Given the description of an element on the screen output the (x, y) to click on. 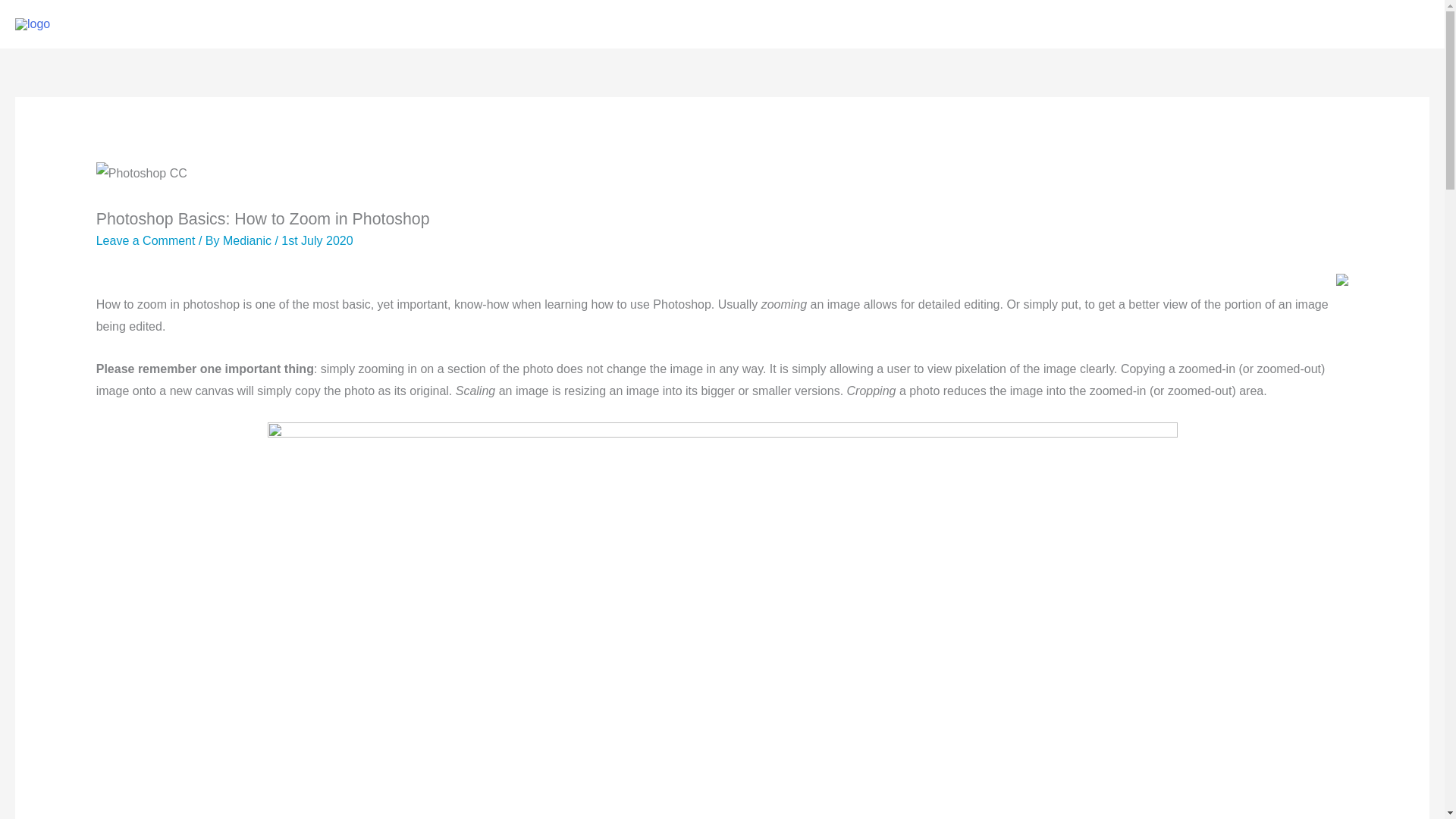
Leave a Comment (145, 240)
View all posts by Medianic (248, 240)
Home (1010, 24)
Contact (1392, 24)
News (1326, 24)
Portfolio (1178, 24)
Medianic (248, 240)
What We Do (1091, 24)
About Us (1256, 24)
